Given the description of an element on the screen output the (x, y) to click on. 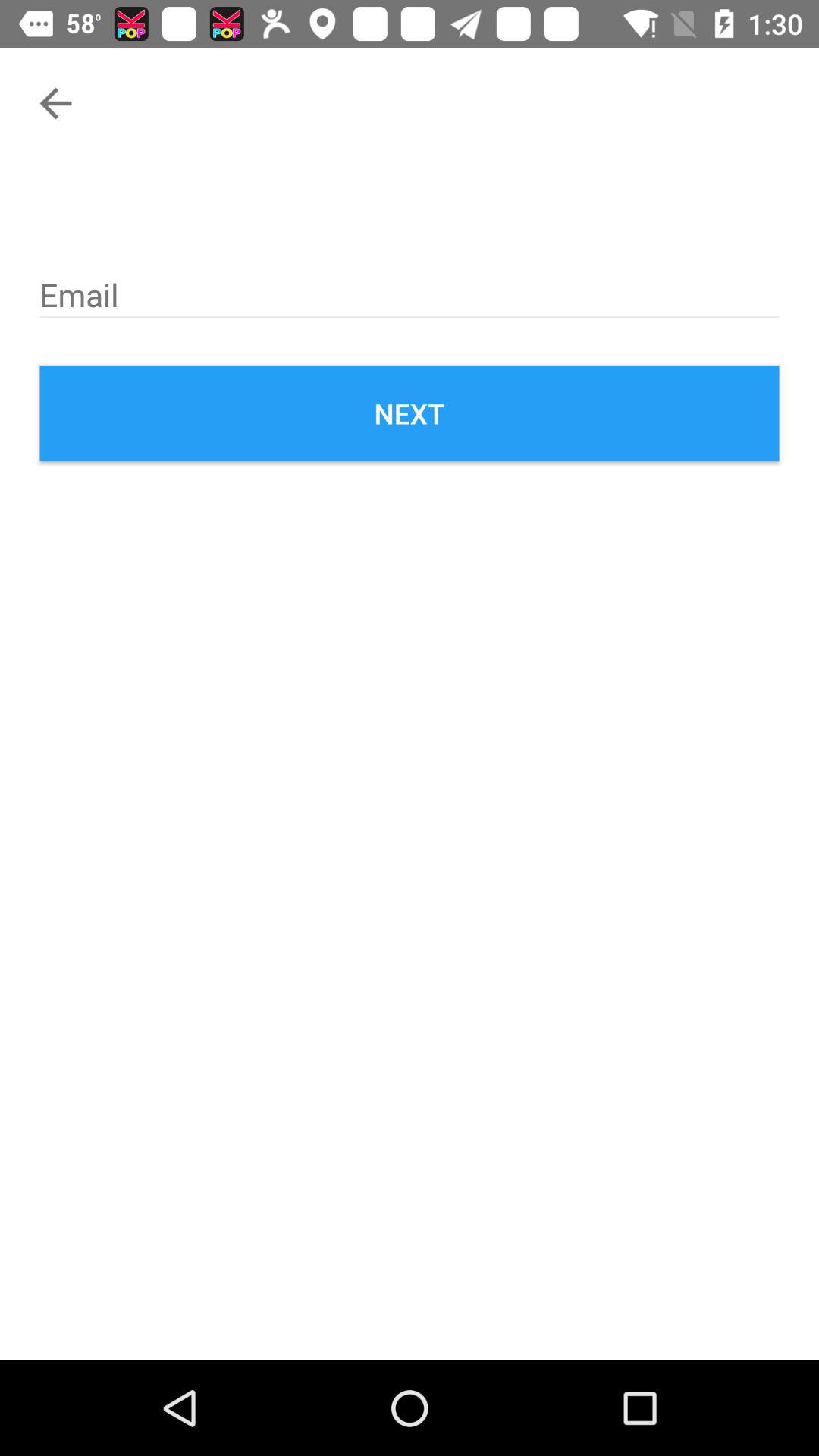
turn off item above next item (409, 291)
